Given the description of an element on the screen output the (x, y) to click on. 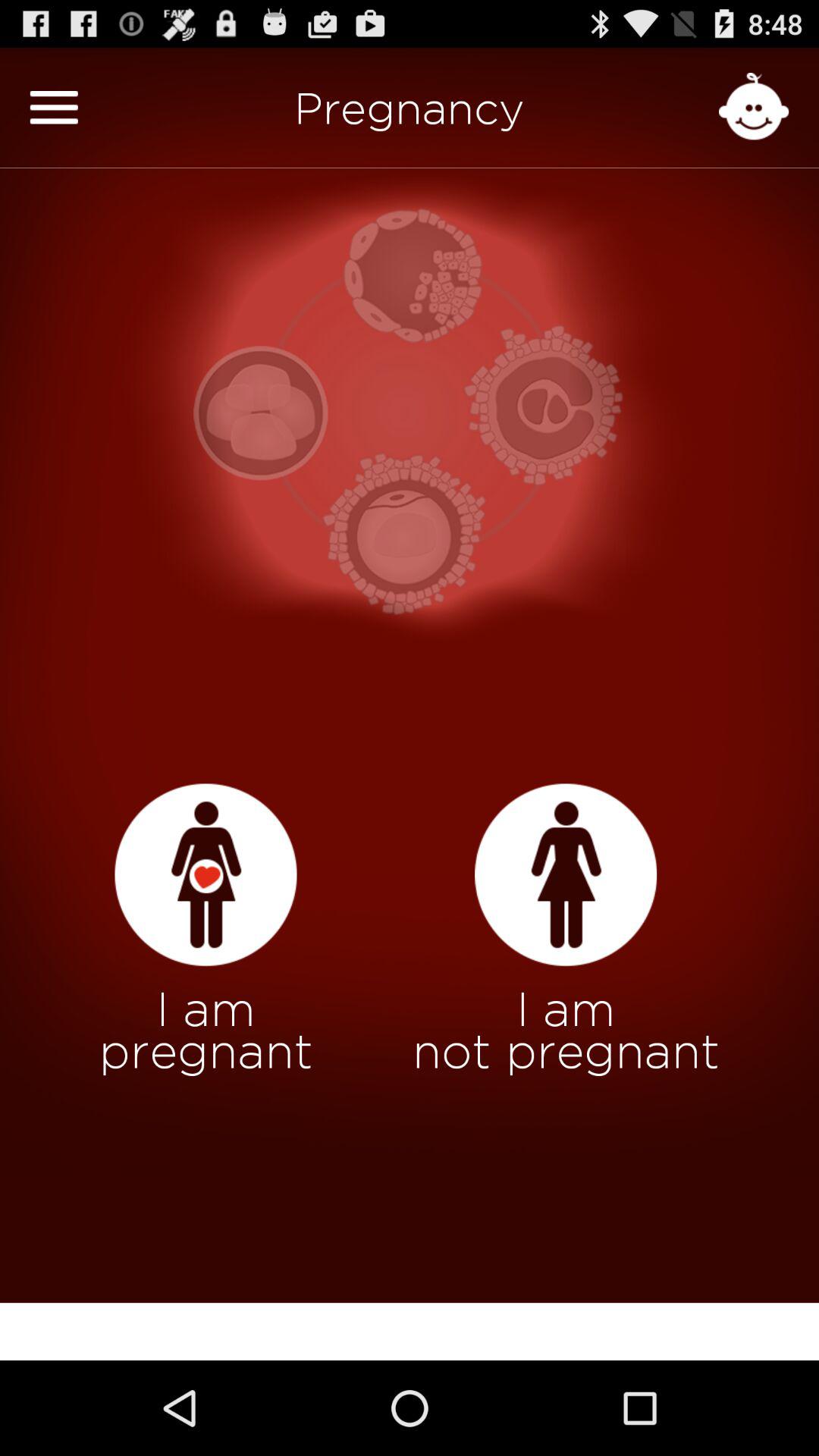
dropdown menu (53, 107)
